Given the description of an element on the screen output the (x, y) to click on. 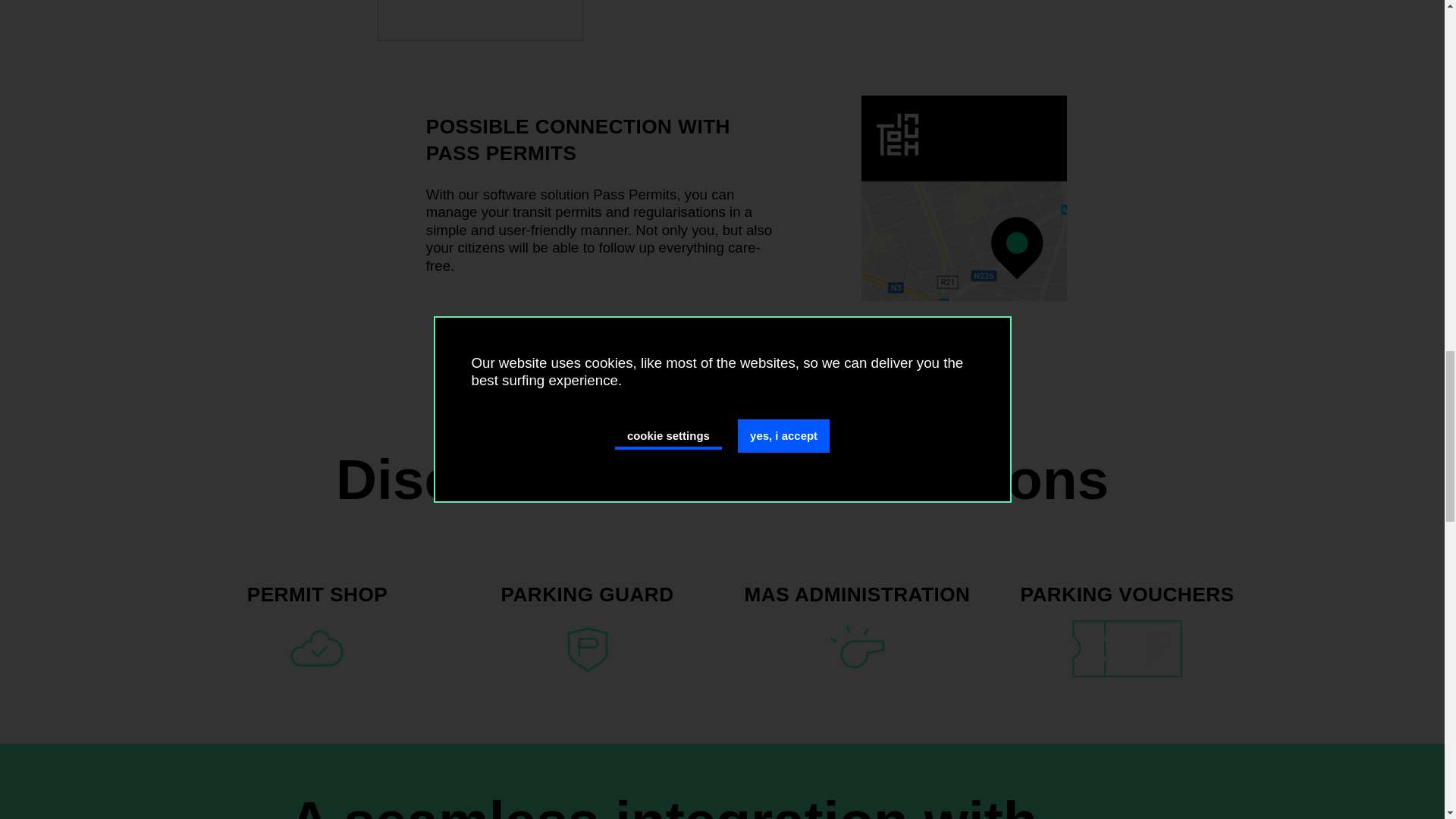
MAS administration (857, 594)
PARKING VOUCHERS (1127, 594)
MAS ADMINISTRATION (857, 594)
Permit Shop (317, 594)
PERMIT SHOP (317, 594)
PARKING GUARD (586, 594)
Parking Vouchers (1127, 594)
Parking guard (586, 594)
